Given the description of an element on the screen output the (x, y) to click on. 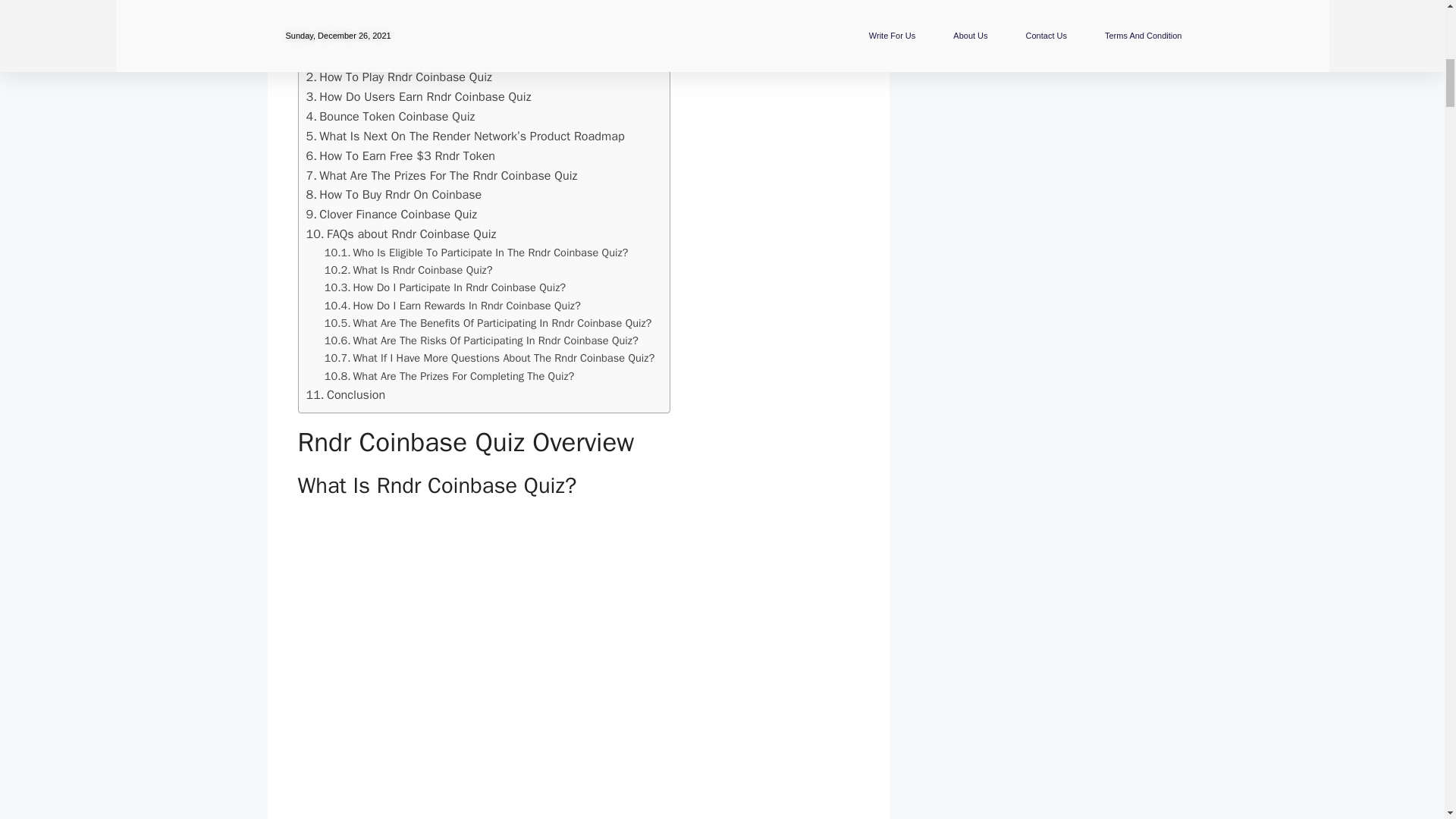
What Are The Risks Of Participating In Rndr Coinbase Quiz? (481, 340)
The Future Of The Render Network (417, 58)
What Is Rndr Coinbase Quiz? (405, 23)
How Do Users Earn Rndr Coinbase Quiz (418, 96)
What Is The Rndr Token? (395, 40)
Clover Finance Coinbase Quiz (391, 214)
How To Play Rndr Coinbase Quiz (398, 76)
How Do I Participate In Rndr Coinbase Quiz? (445, 287)
What Are The Prizes For The Rndr Coinbase Quiz (441, 175)
